Given the description of an element on the screen output the (x, y) to click on. 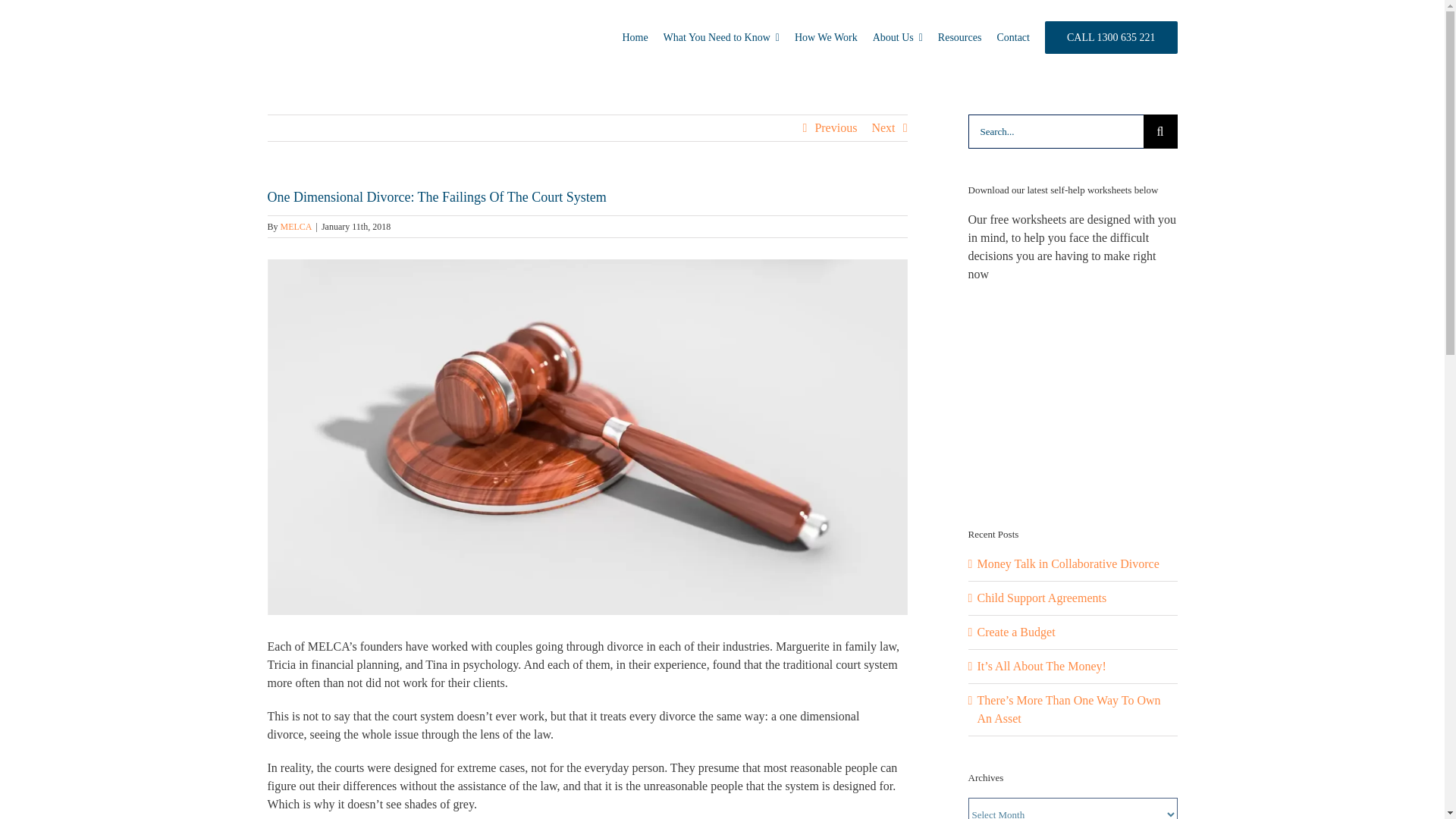
CALL 1300 635 221 (1111, 36)
Previous (835, 127)
Money Talk in Collaborative Divorce (1067, 563)
What You Need to Know (720, 36)
Posts by MELCA (297, 226)
Create a Budget (1015, 631)
MELCA (297, 226)
Next (882, 127)
Child Support Agreements (1041, 597)
